Given the description of an element on the screen output the (x, y) to click on. 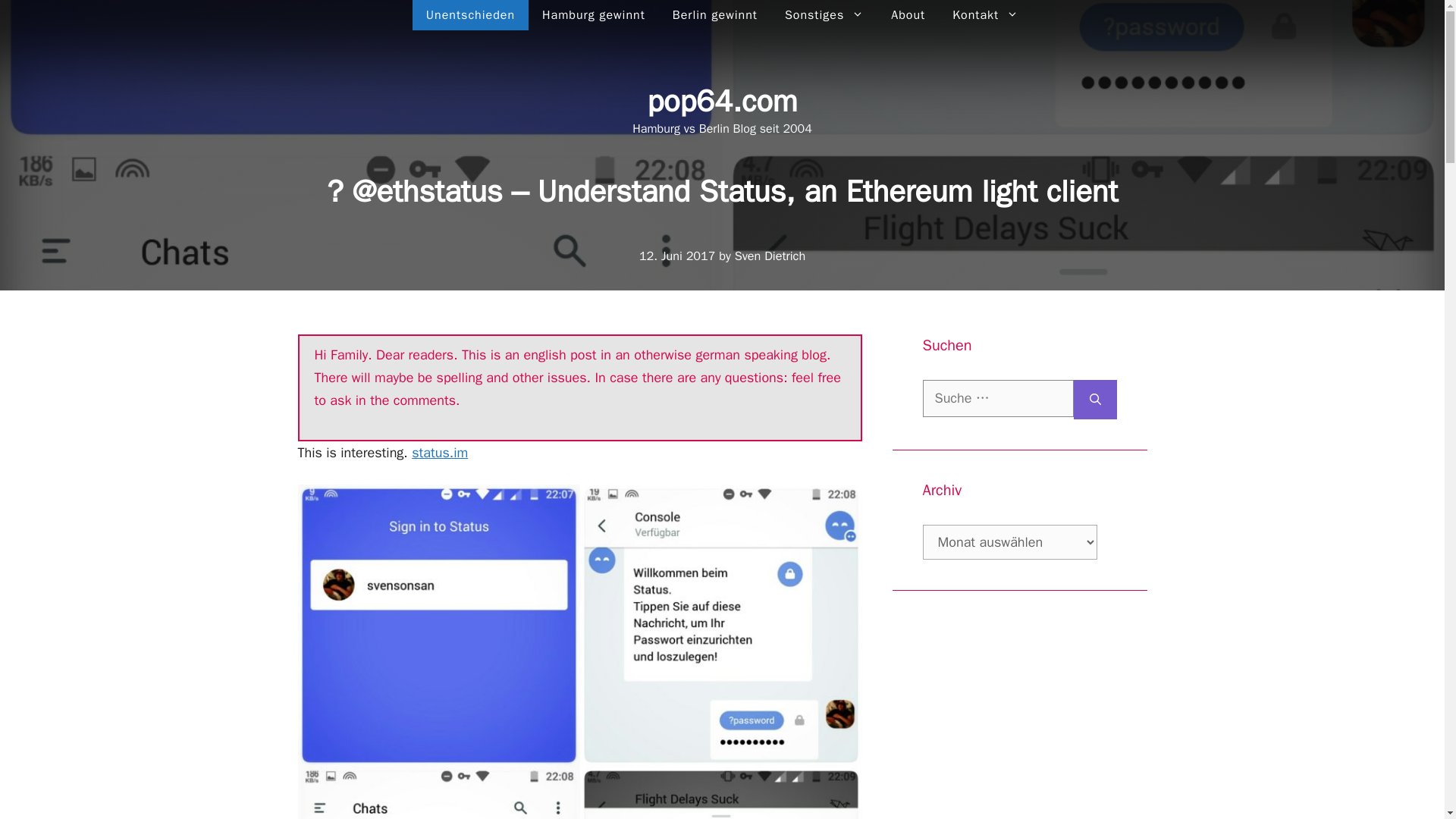
pop64.com (721, 100)
Artikel, in denen Hamburg den Vergleich mit Berlin gewinnt (593, 15)
Sonstiges (824, 15)
About (908, 15)
Suche nach: (997, 398)
Kontakt (985, 15)
Unentschieden (470, 15)
Berlin gewinnt (715, 15)
status.im (439, 452)
Hamburg gewinnt (593, 15)
Artikel, in denen Berlin den Vergleich mit Hamburg gewinnt (715, 15)
Alles, was nichts mit Hamburg oder Berlin zu tun hat  (470, 15)
